Given the description of an element on the screen output the (x, y) to click on. 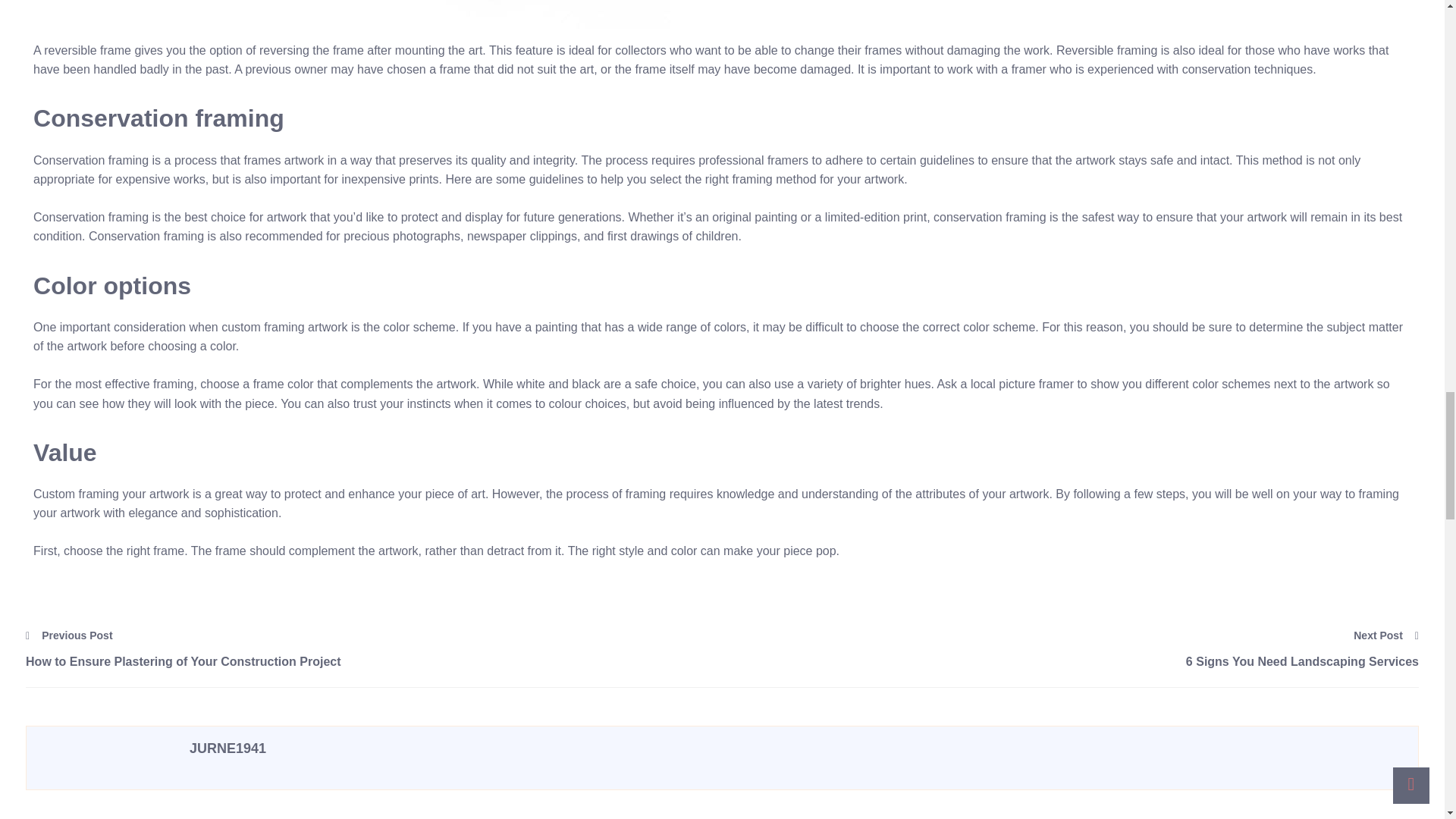
How to Ensure Plastering of Your Construction Project (374, 661)
6 Signs You Need Landscaping Services (1070, 661)
Next Post (1386, 635)
Previous Post (69, 635)
